Given the description of an element on the screen output the (x, y) to click on. 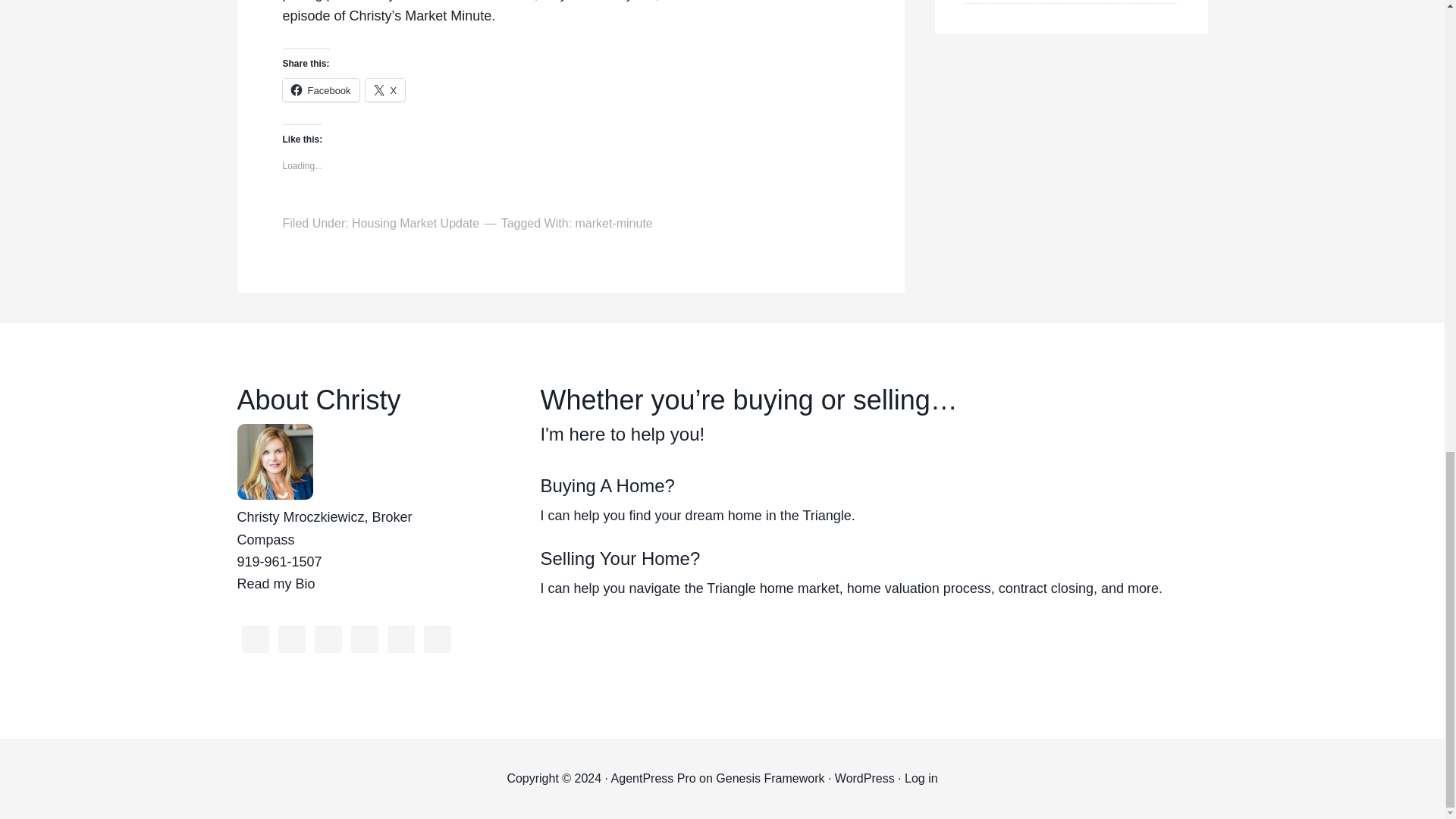
Housing Market Update (415, 223)
Facebook (320, 89)
market-minute (613, 223)
X (385, 89)
919-961-1507 (278, 561)
Click to share on X (385, 89)
Click to share on Facebook (320, 89)
Read my Bio (274, 583)
